Given the description of an element on the screen output the (x, y) to click on. 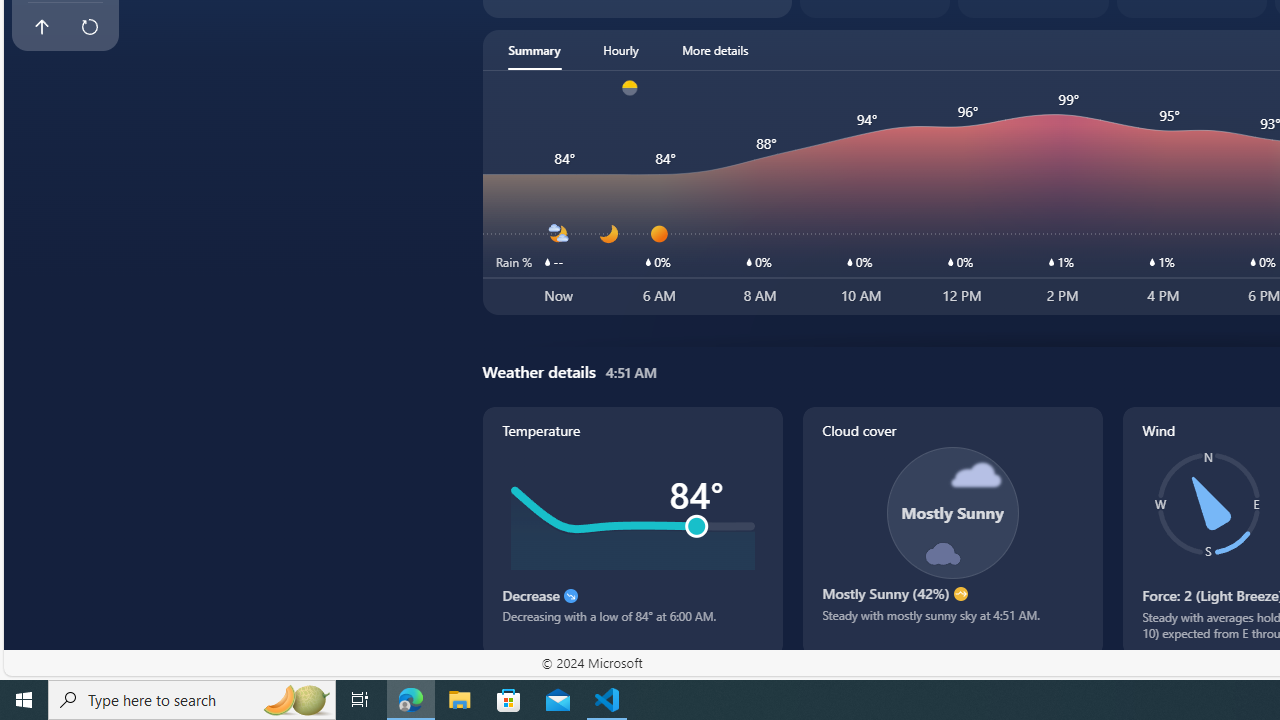
Temperature (632, 531)
Summary (534, 49)
Hourly (620, 49)
Class: cloudCoverSvg-DS-ps0R9q (951, 512)
Cloud cover (952, 531)
Decrease (570, 595)
Back to top (41, 26)
More details (715, 49)
Refresh this page (89, 26)
Steady with mostly sunny sky at 4:51 AM. (951, 622)
